Given the description of an element on the screen output the (x, y) to click on. 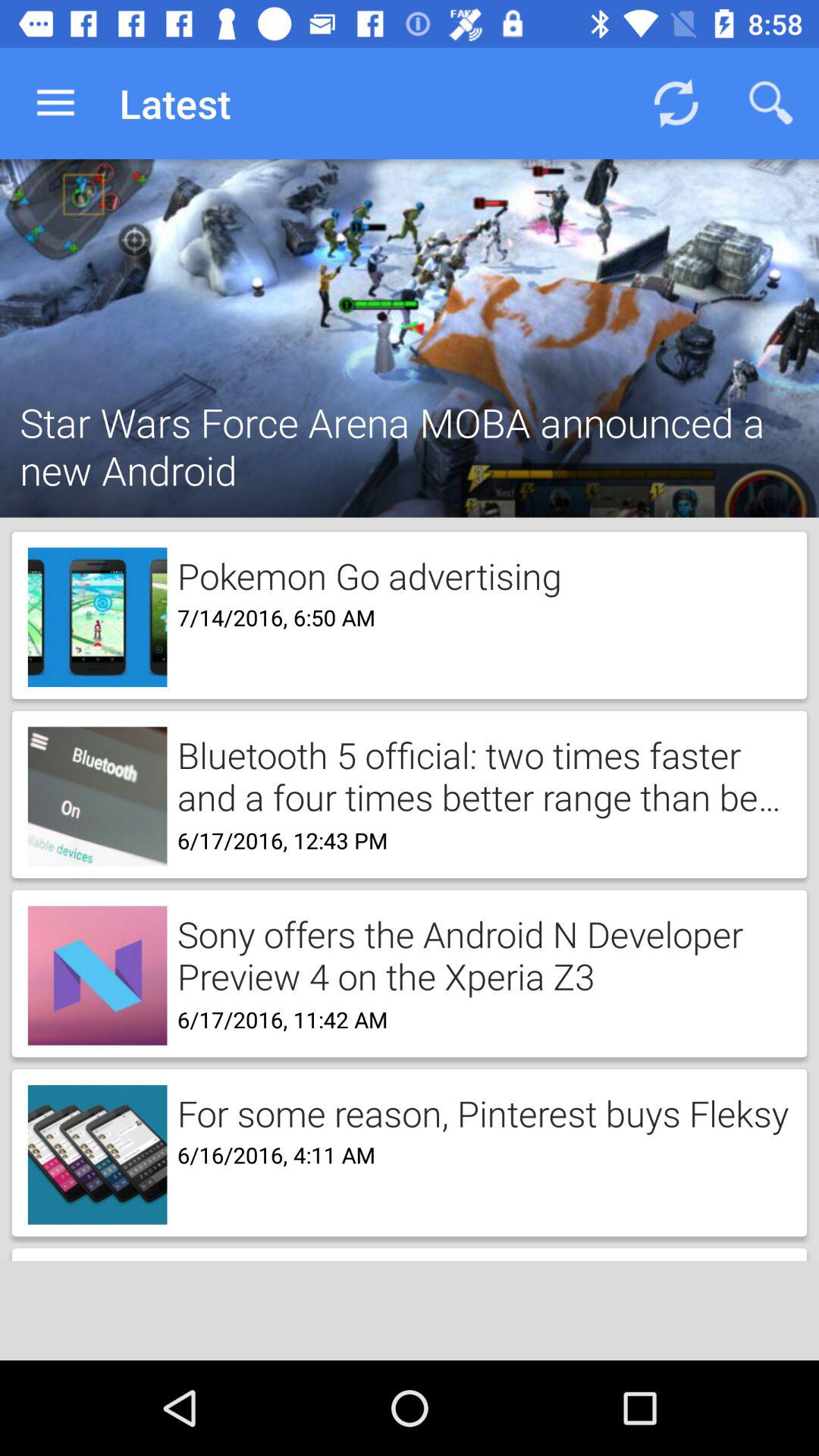
press the icon above 6 17 2016 item (479, 774)
